Given the description of an element on the screen output the (x, y) to click on. 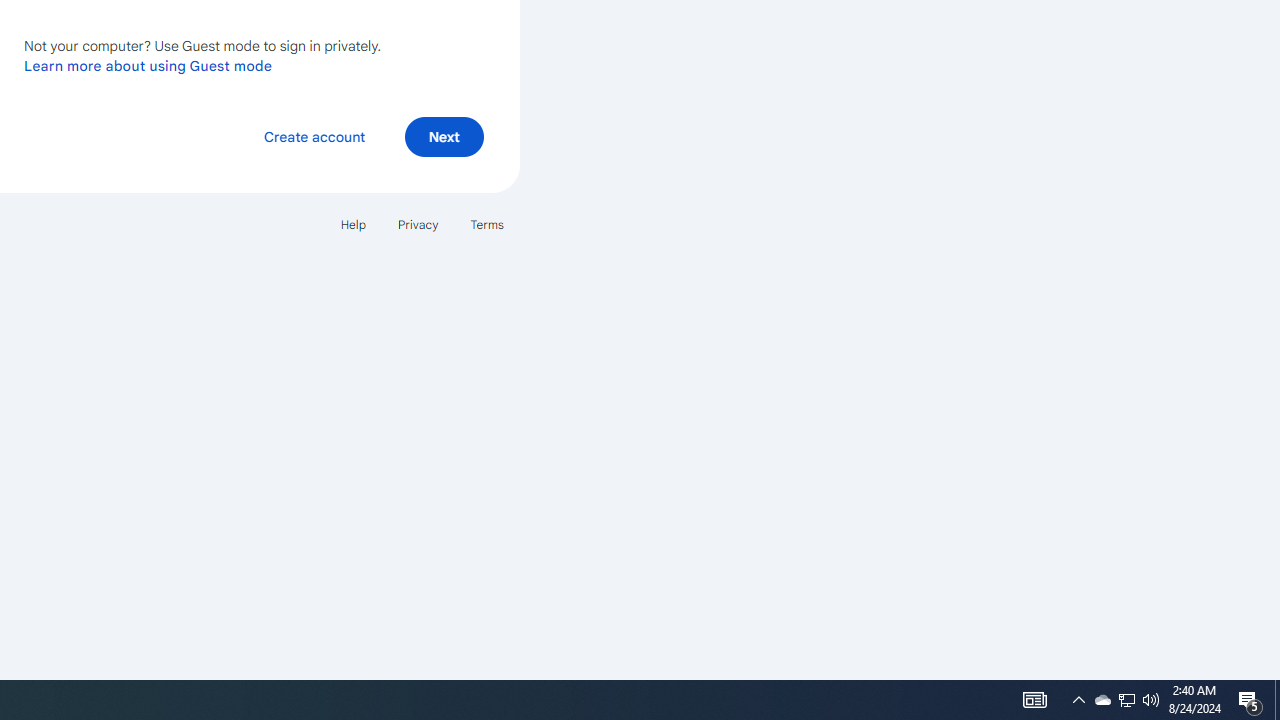
Create account (314, 135)
Terms (486, 224)
Next (443, 135)
Help (352, 224)
Learn more about using Guest mode (148, 65)
Privacy (417, 224)
